Given the description of an element on the screen output the (x, y) to click on. 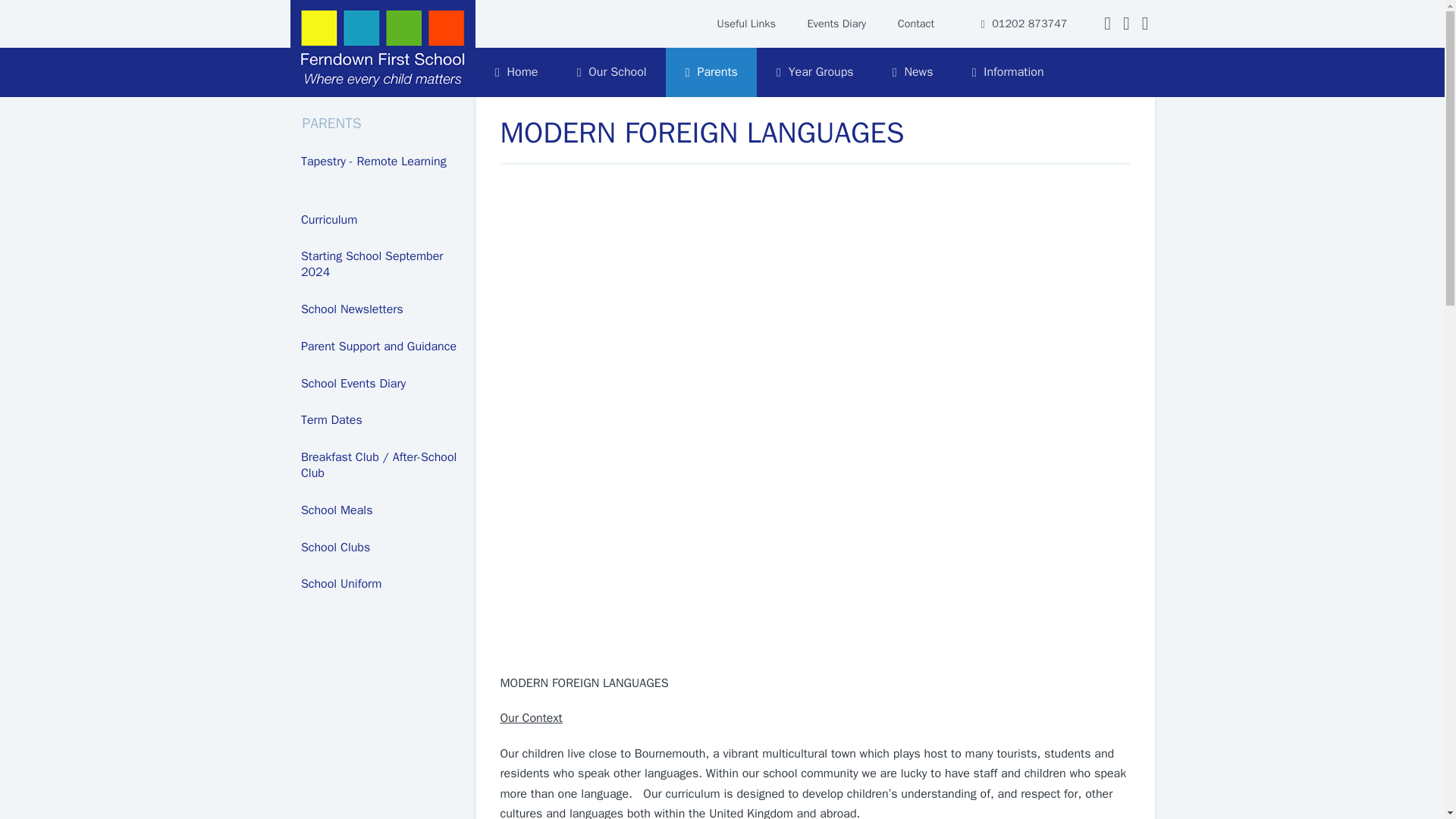
Home (516, 72)
Term Dates (382, 420)
Parent Support and Guidance (382, 346)
Tapestry -  Remote Learning (382, 161)
Year Groups (814, 72)
School Events Diary (382, 383)
Tapestry - Remote Learning (382, 161)
01202 873747 (1024, 23)
Our School (611, 72)
School Events Diary (382, 383)
